Given the description of an element on the screen output the (x, y) to click on. 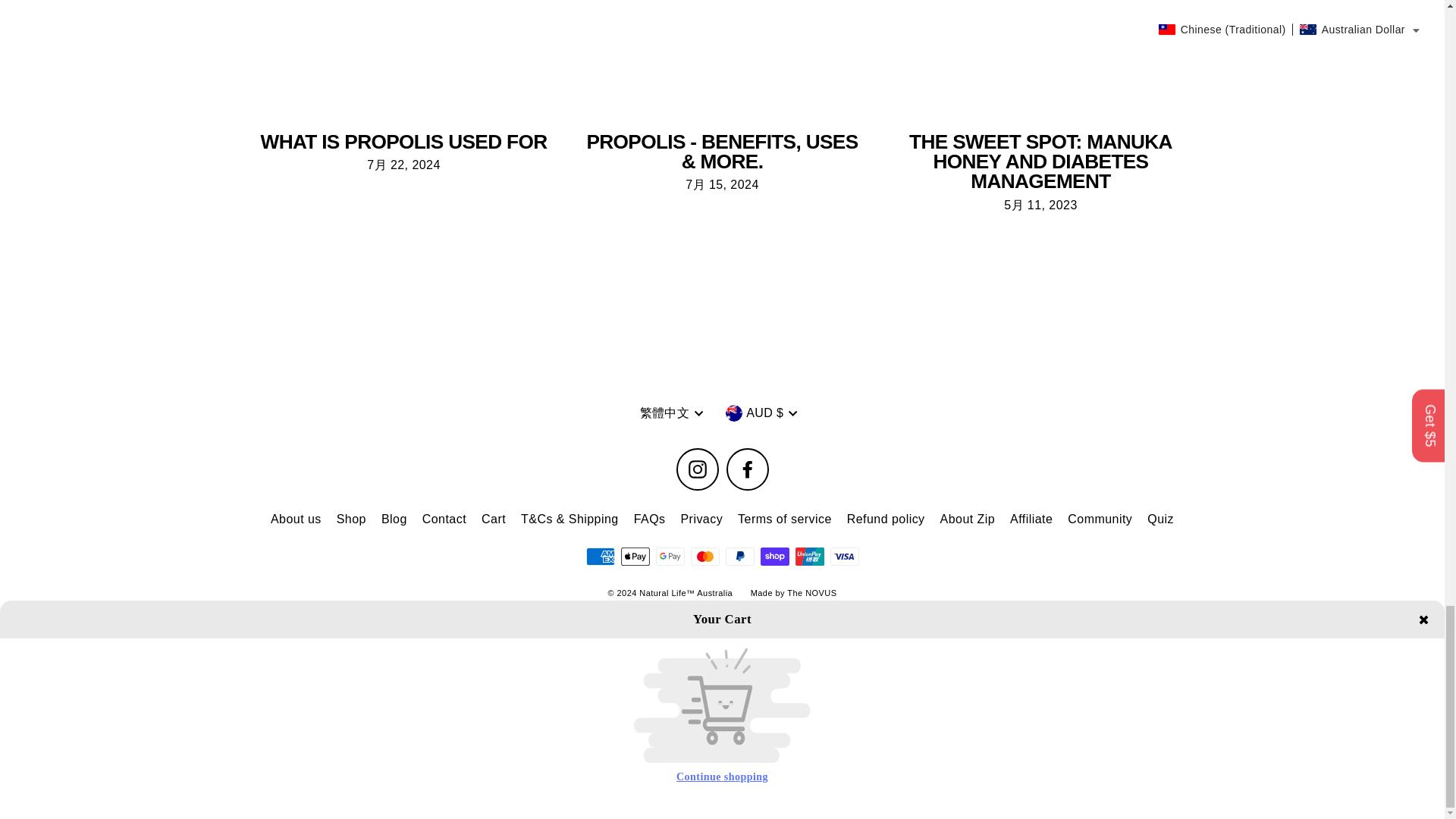
Mastercard (704, 556)
American Express (599, 556)
PayPal (739, 556)
Union Pay (809, 556)
Apple Pay (634, 556)
Shop Pay (774, 556)
Google Pay (669, 556)
